Given the description of an element on the screen output the (x, y) to click on. 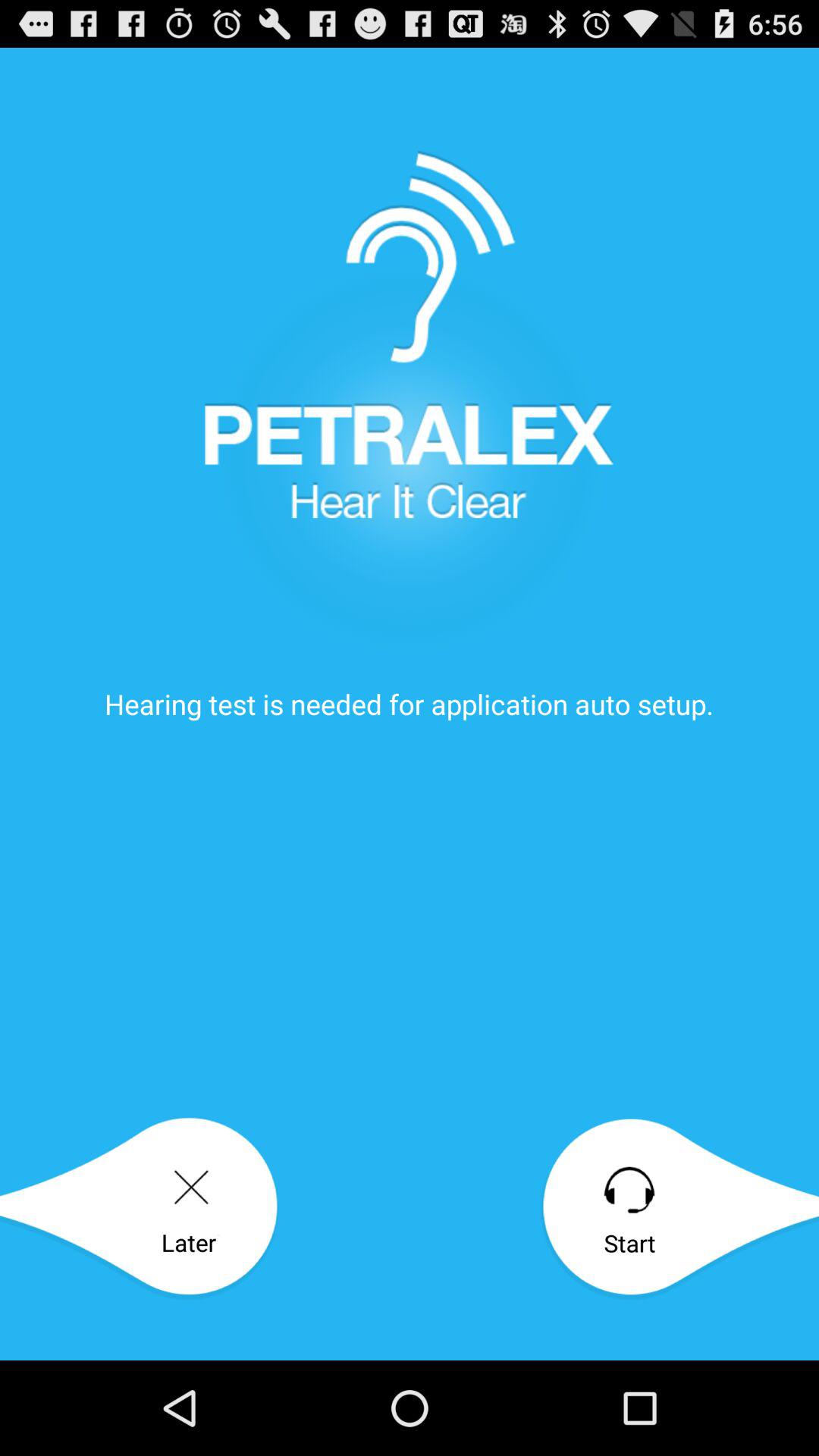
select item to the right of the later icon (679, 1208)
